Given the description of an element on the screen output the (x, y) to click on. 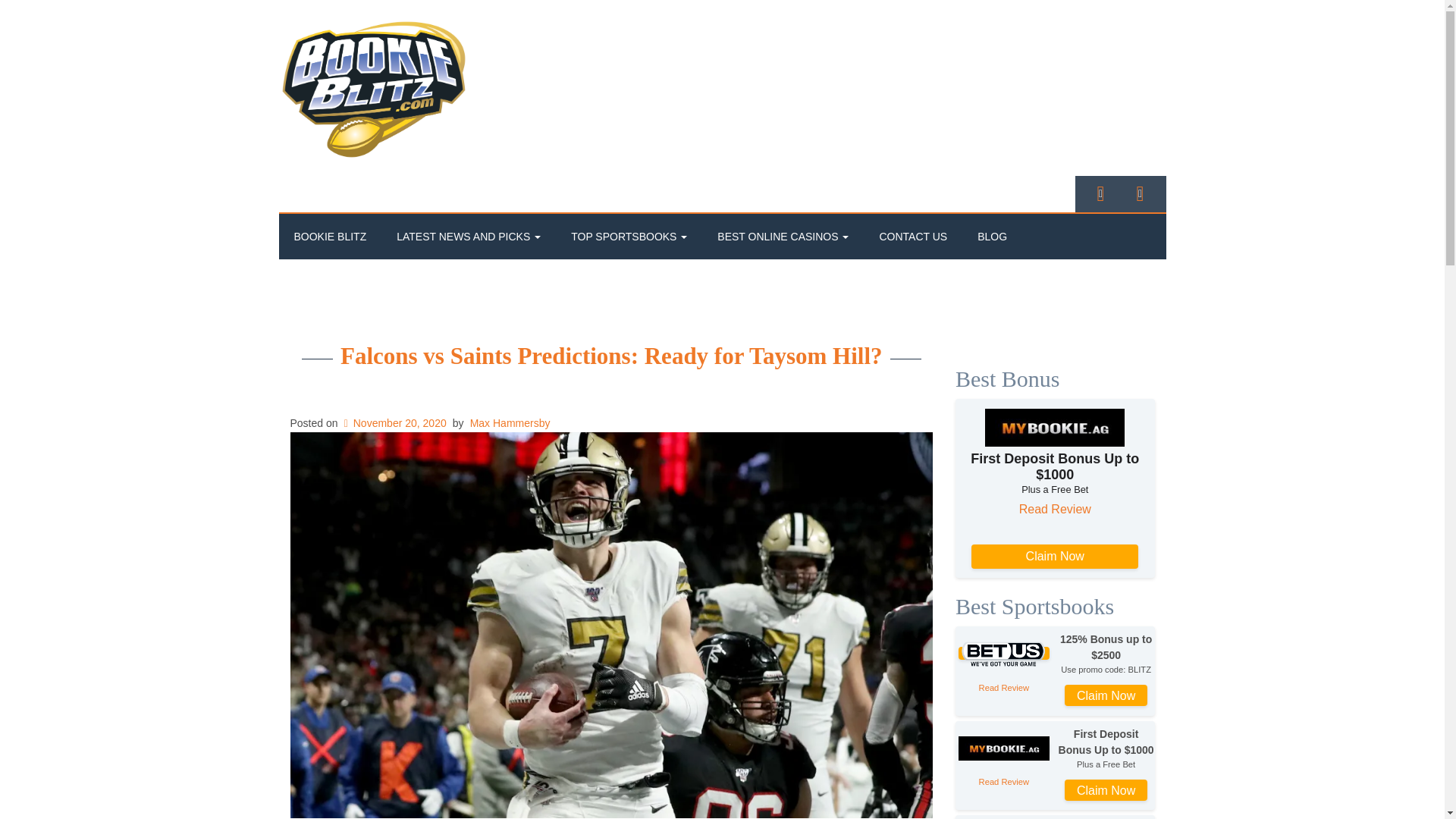
LATEST NEWS AND PICKS (468, 236)
November 20, 2020 (392, 422)
BOOKIE BLITZ (330, 236)
FACEBOOK (1139, 193)
CONTACT US (912, 236)
BEST ONLINE CASINOS (782, 236)
TWITTER (1100, 193)
BLOG (992, 236)
TOP SPORTSBOOKS (628, 236)
Max Hammersby (510, 422)
